Given the description of an element on the screen output the (x, y) to click on. 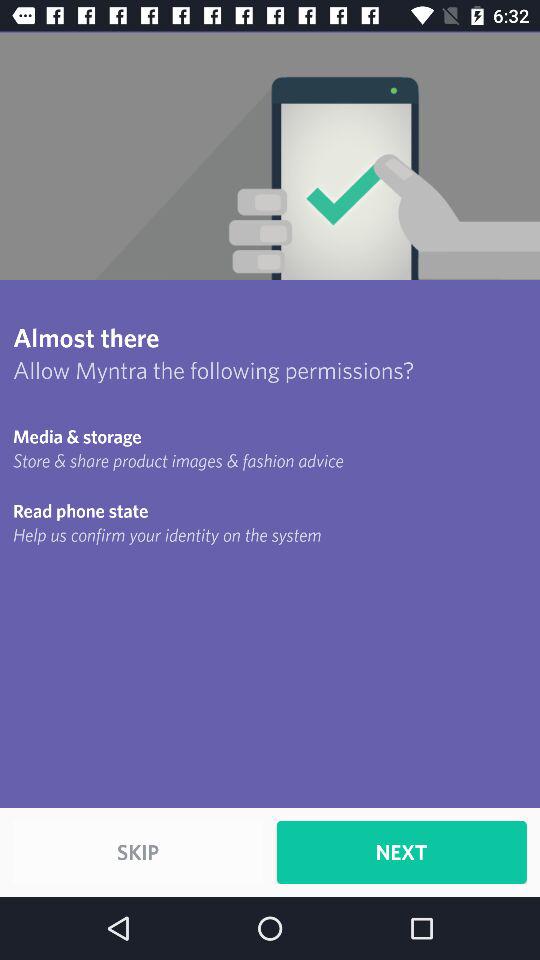
open item to the left of the next item (138, 851)
